Given the description of an element on the screen output the (x, y) to click on. 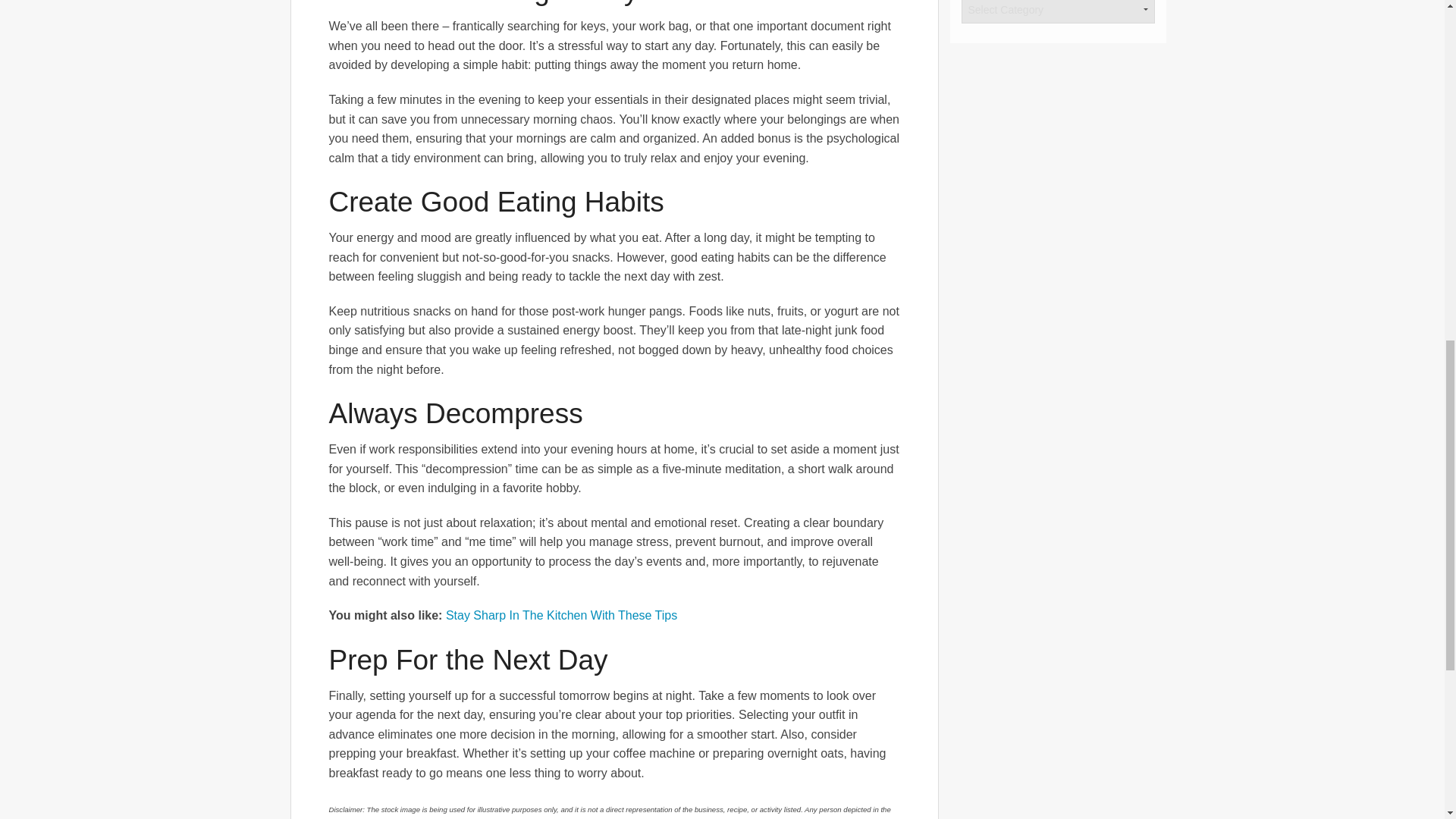
Stay Sharp In The Kitchen With These Tips (561, 615)
